Given the description of an element on the screen output the (x, y) to click on. 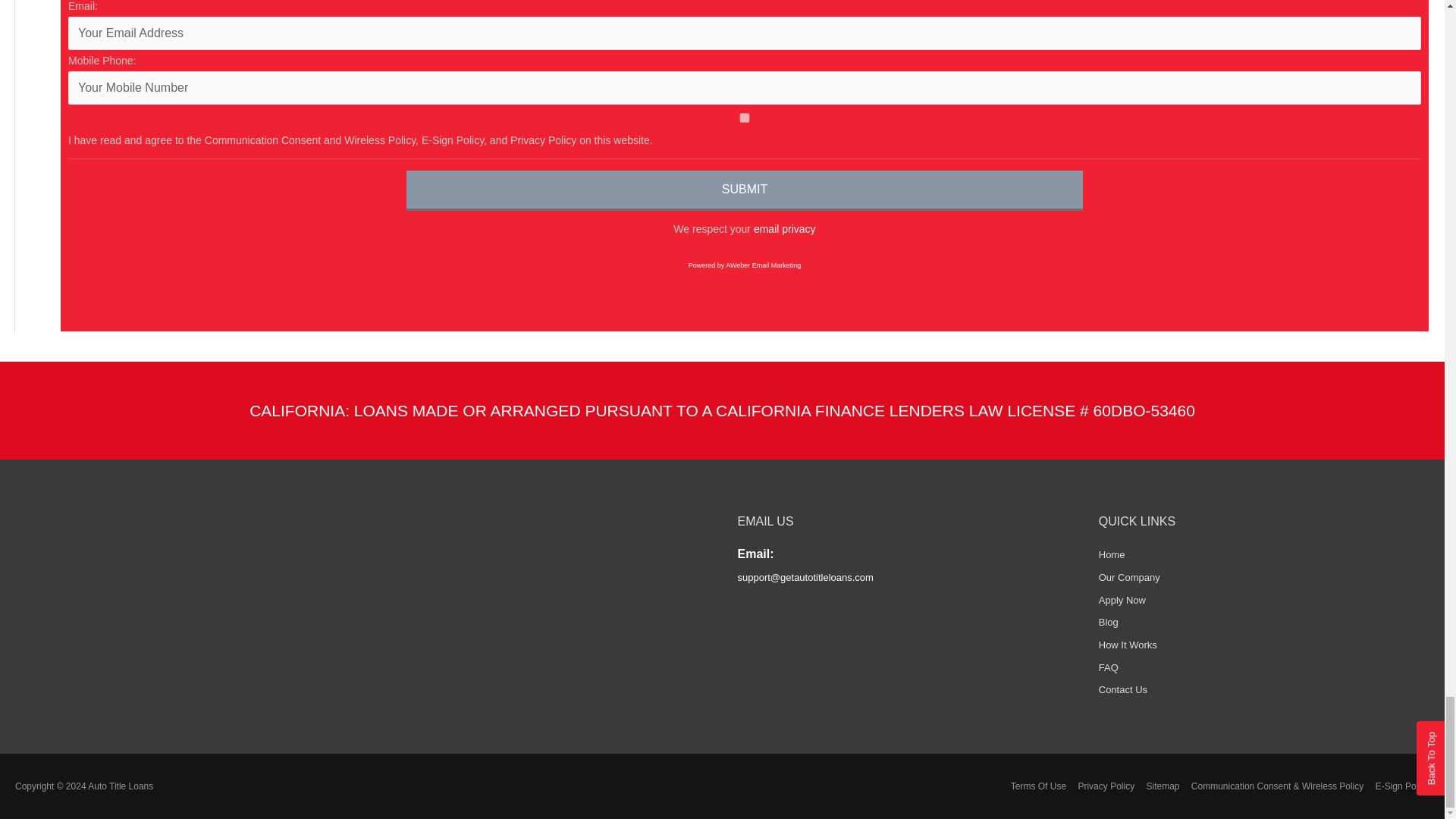
Blog (1108, 622)
Privacy Policy (784, 228)
Powered by AWeber Email Marketing (745, 265)
Your Mobile Number (744, 87)
Submit (744, 190)
Home (1112, 554)
Apply Now (1122, 600)
Your Email Address (744, 32)
How It Works (1128, 644)
Our Company (1129, 577)
Submit (744, 190)
AWeber Email Marketing (745, 265)
email privacy (784, 228)
